Given the description of an element on the screen output the (x, y) to click on. 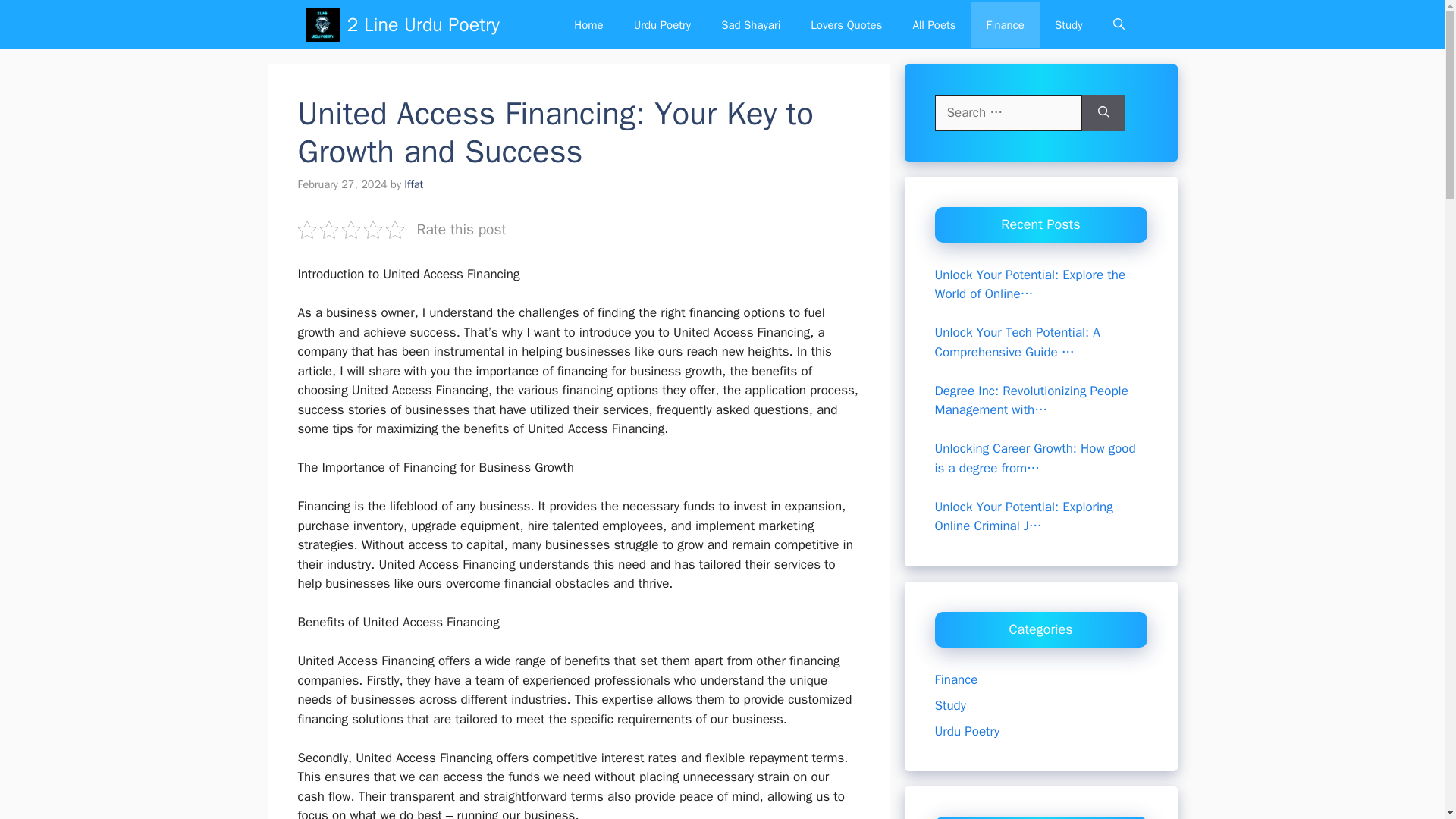
Study (949, 705)
Study (1068, 23)
Finance (955, 679)
View all posts by Iffat (413, 183)
Search for: (1007, 113)
All Poets (933, 23)
Urdu Poetry (662, 23)
Home (588, 23)
Finance (1005, 23)
Iffat (413, 183)
Lovers Quotes (845, 23)
2 Line Urdu Poetry (423, 24)
Sad Shayari (750, 23)
Urdu Poetry (966, 731)
